Given the description of an element on the screen output the (x, y) to click on. 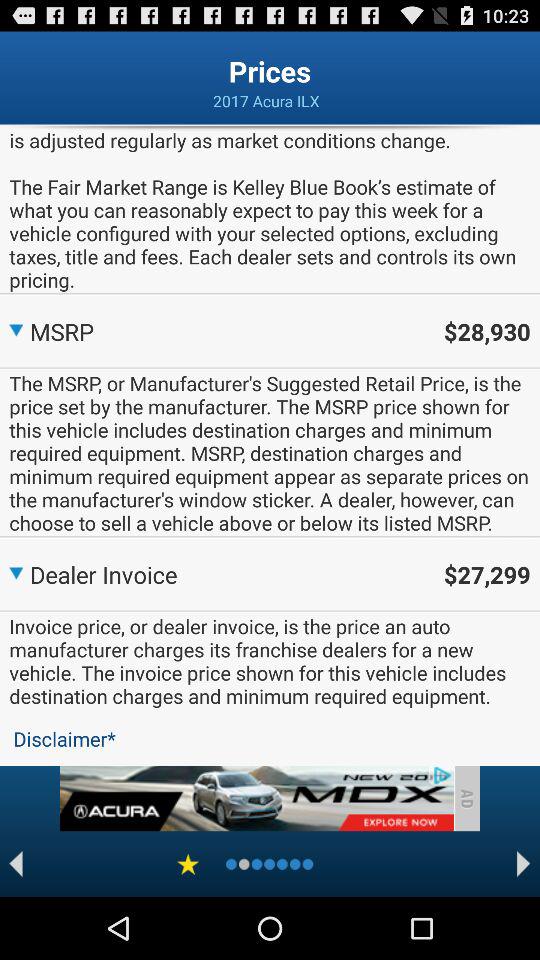
advertisement (256, 798)
